Given the description of an element on the screen output the (x, y) to click on. 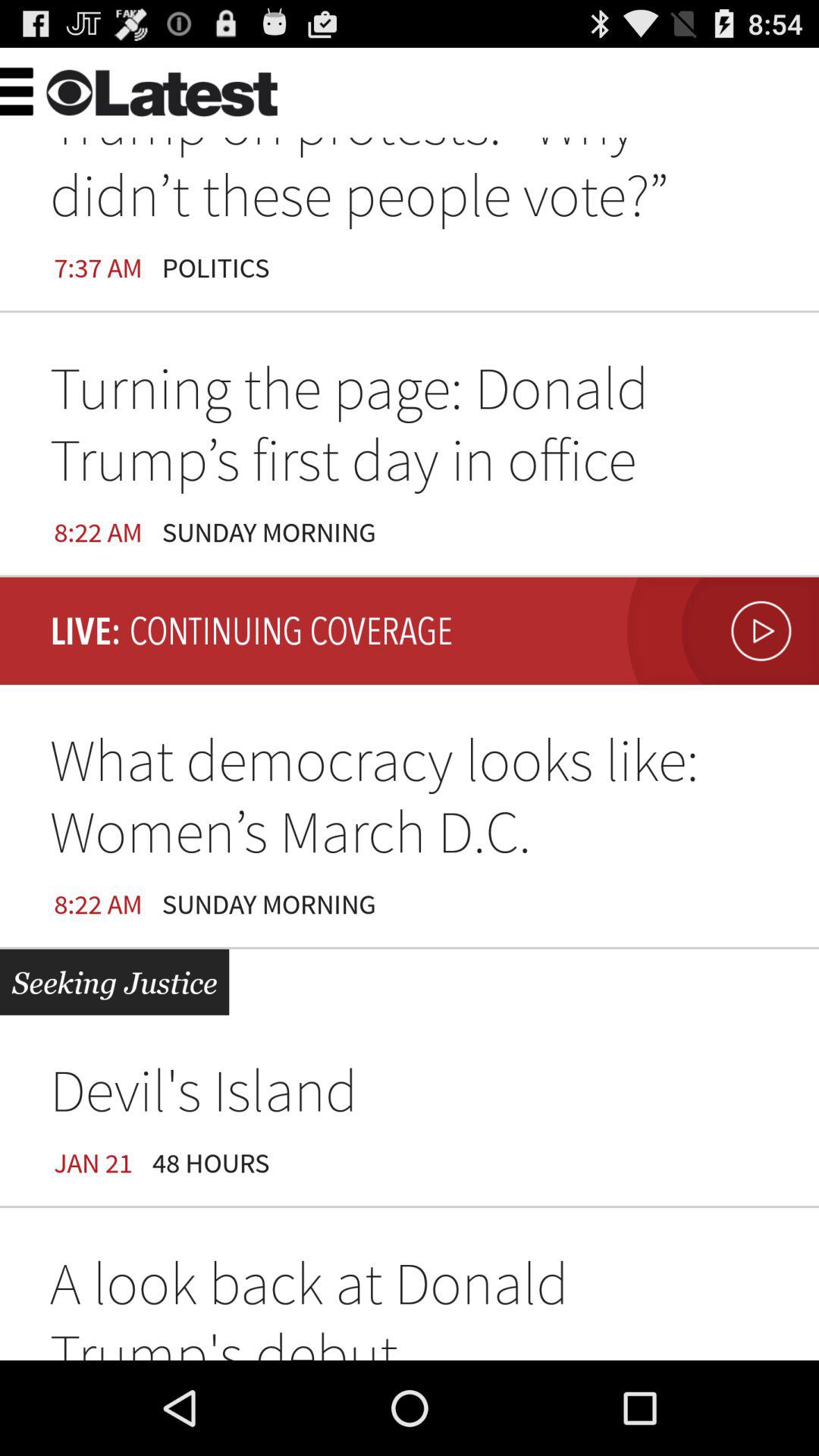
press item next to the sunday morning icon (719, 630)
